Given the description of an element on the screen output the (x, y) to click on. 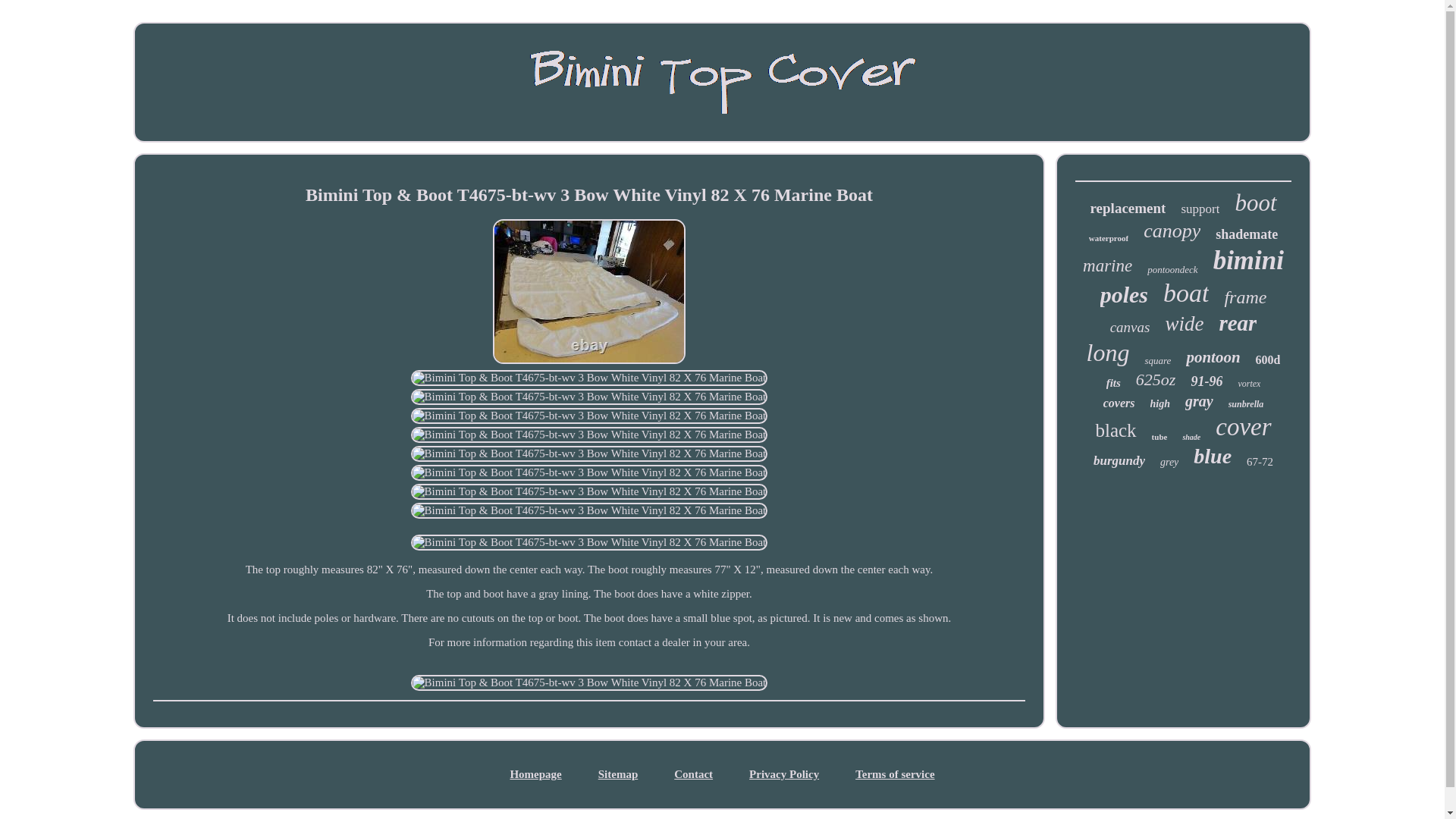
canopy (1170, 231)
support (1200, 209)
pontoondeck (1171, 269)
600d (1268, 359)
boat (1185, 293)
bimini (1248, 260)
shademate (1246, 234)
square (1157, 360)
marine (1107, 266)
wide (1184, 323)
sunbrella (1245, 404)
long (1107, 352)
fits (1113, 382)
high (1159, 404)
canvas (1129, 327)
